Given the description of an element on the screen output the (x, y) to click on. 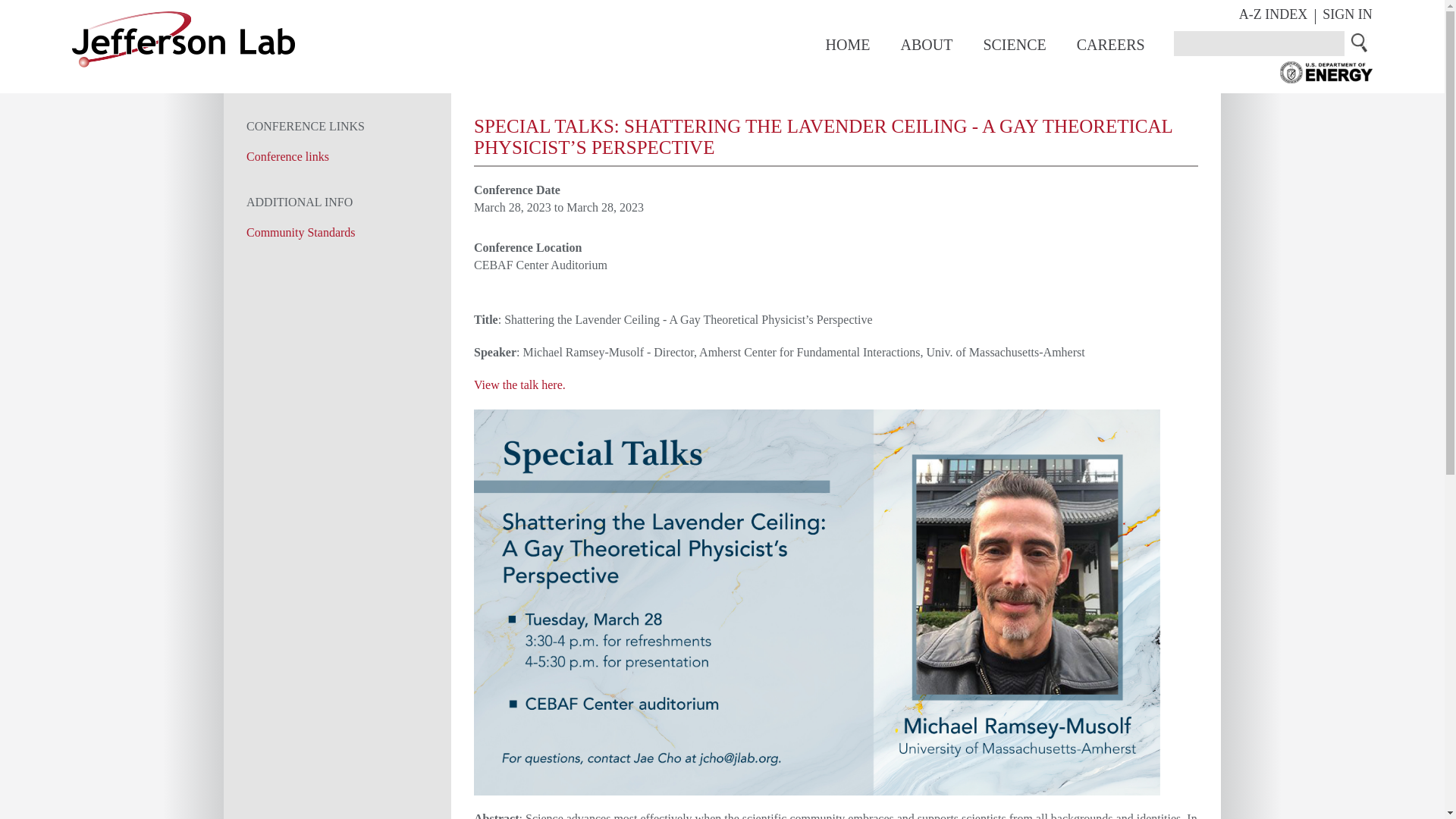
Conference links (287, 155)
View the talk here. (520, 384)
Community Standards (300, 232)
Search (1359, 42)
SIGN IN (1347, 14)
A-Z INDEX (1273, 14)
ABOUT (925, 44)
HOME (847, 44)
SCIENCE (1013, 44)
Search (1359, 42)
CAREERS (1110, 44)
